Given the description of an element on the screen output the (x, y) to click on. 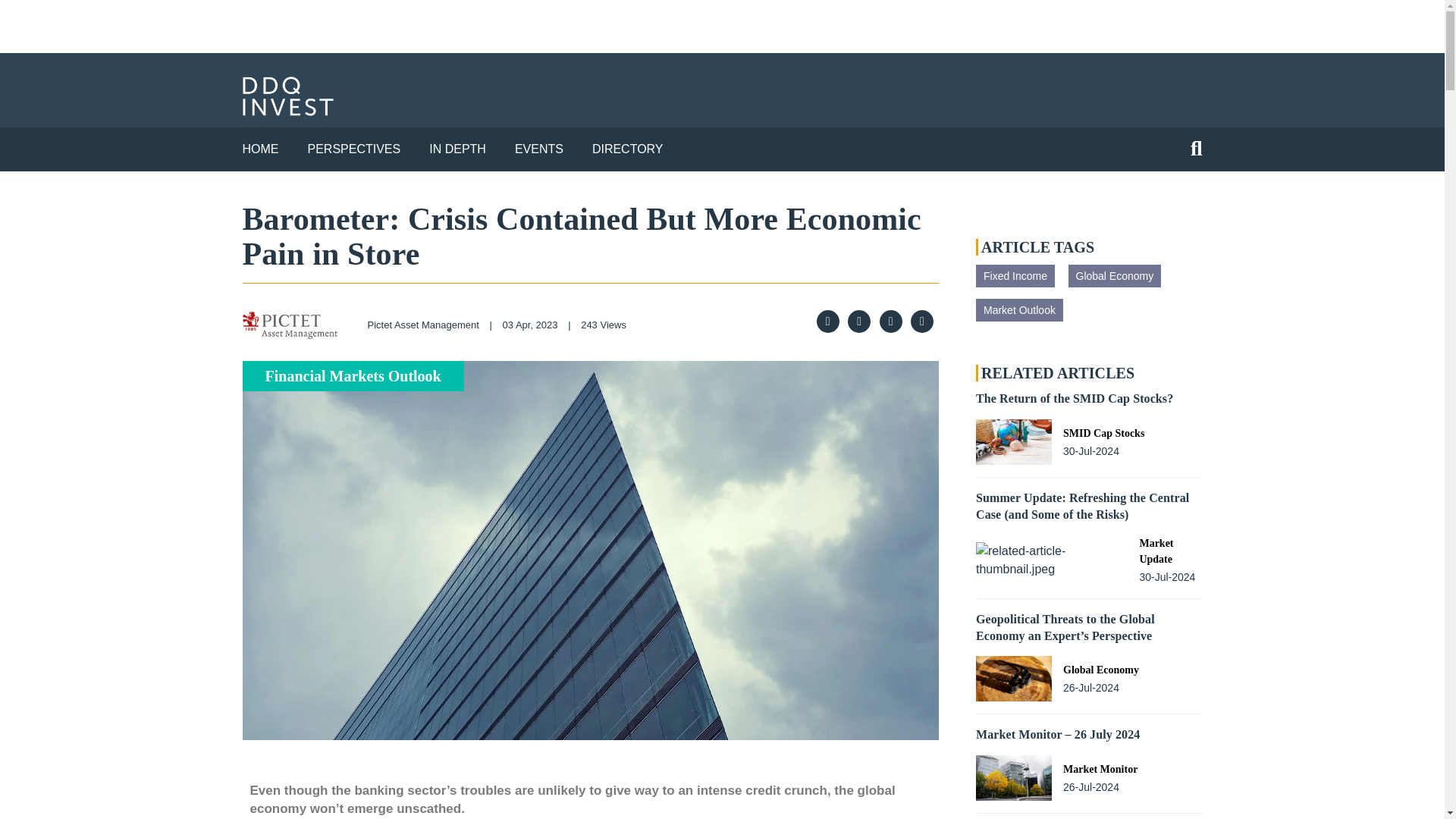
Global Economy (1113, 275)
SMID Cap Stocks (1103, 433)
The Return of the SMID Cap Stocks? (1074, 398)
EVENTS (539, 149)
Market Monitor (1099, 769)
DIRECTORY (627, 149)
Global Economy (1100, 669)
IN DEPTH (457, 149)
PERSPECTIVES (354, 149)
Market Outlook (1018, 309)
Fixed Income (1014, 275)
Market Update (1170, 551)
